Given the description of an element on the screen output the (x, y) to click on. 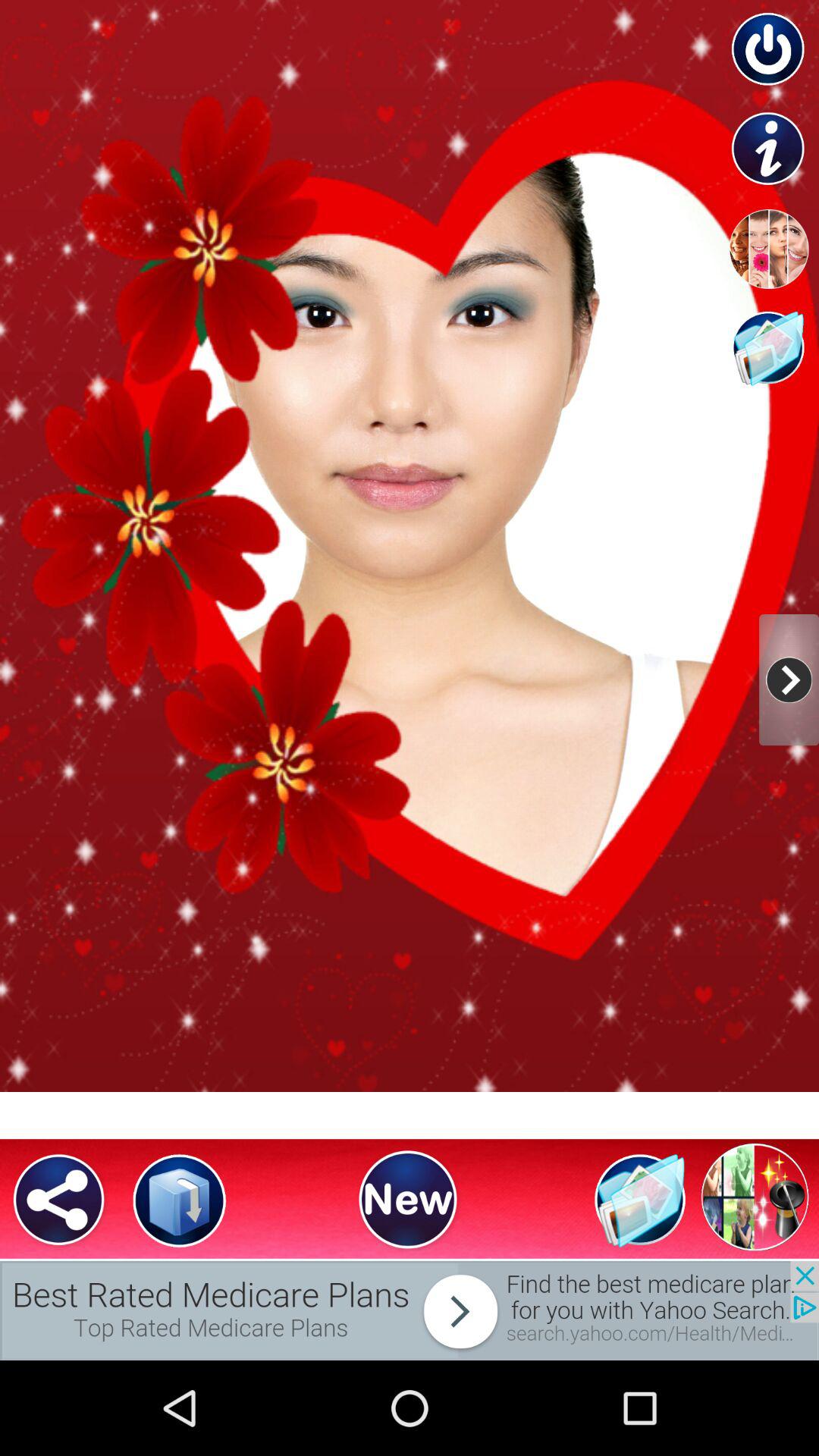
notifications (409, 1310)
